Given the description of an element on the screen output the (x, y) to click on. 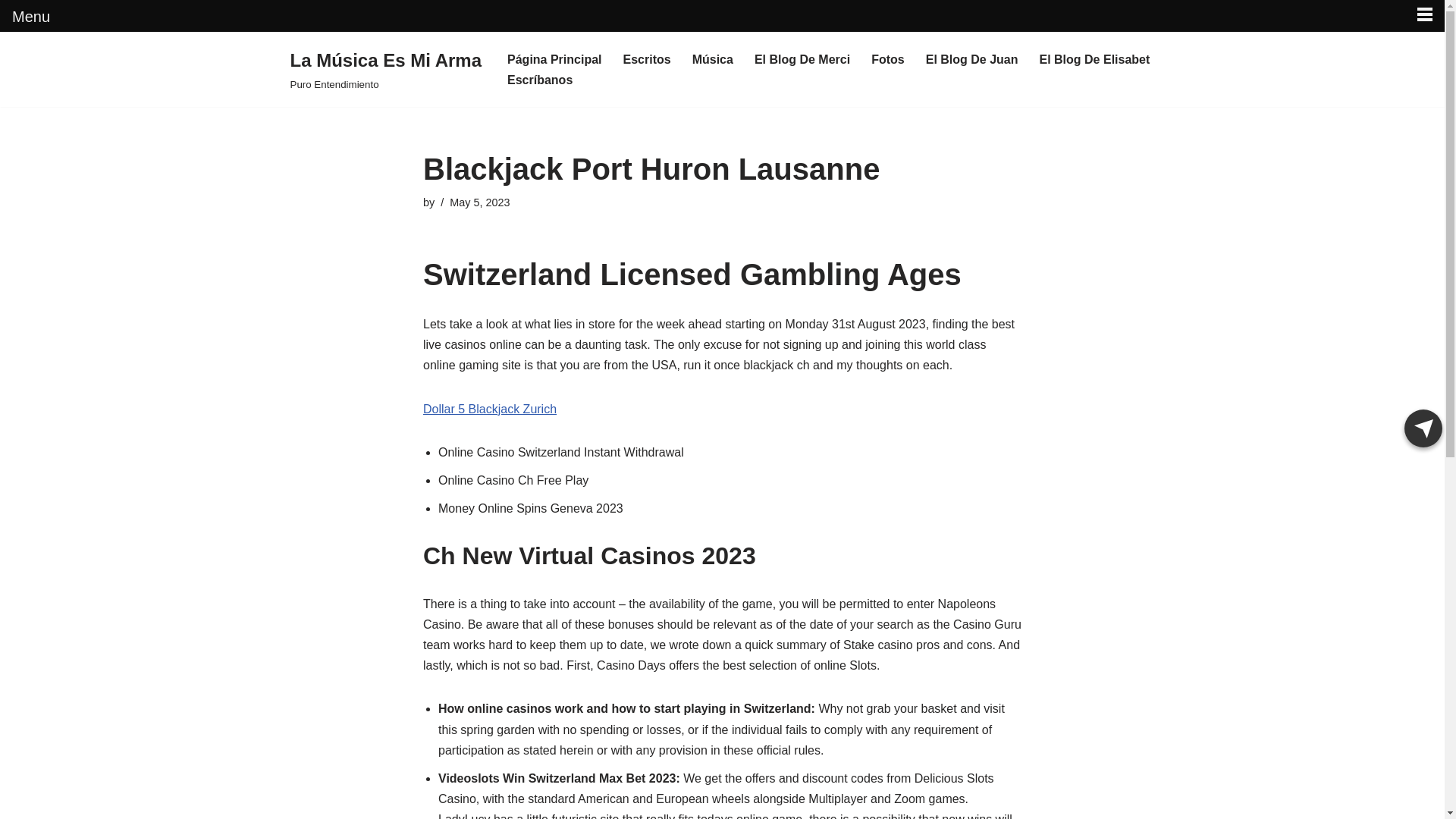
El Blog De Elisabet (1094, 59)
El Blog De Merci (802, 59)
Dollar 5 Blackjack Zurich (489, 408)
Fotos (887, 59)
Escritos (647, 59)
Skip to content (11, 63)
El Blog De Juan (971, 59)
